Given the description of an element on the screen output the (x, y) to click on. 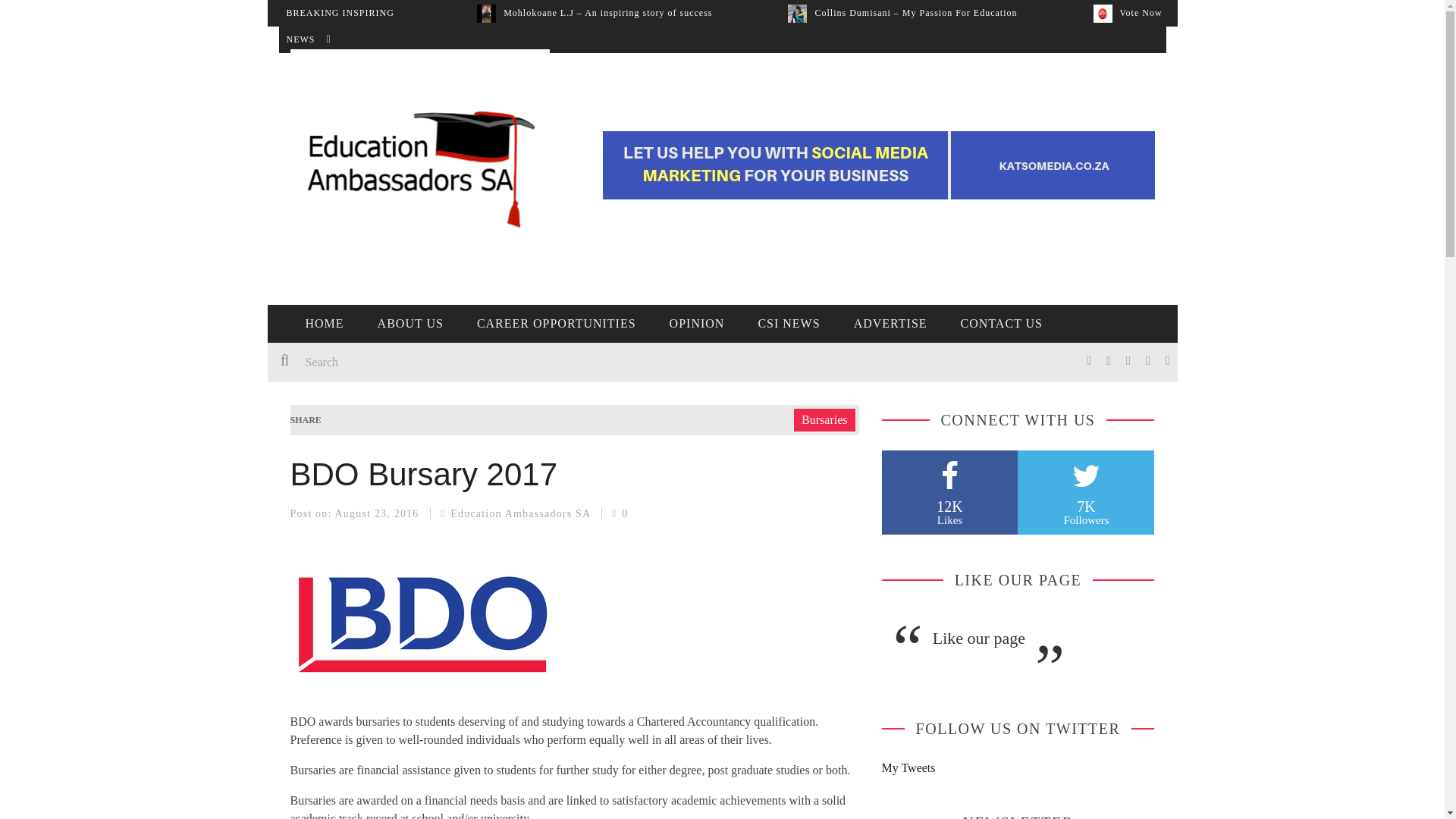
ADVERTISE (890, 323)
CONTACT US (1001, 323)
ABOUT US (410, 323)
CAREER OPPORTUNITIES (555, 323)
Posts by Education Ambassadors SA (519, 513)
HOME (323, 323)
OPINION (696, 323)
CSI NEWS (788, 323)
Search (494, 362)
